Given the description of an element on the screen output the (x, y) to click on. 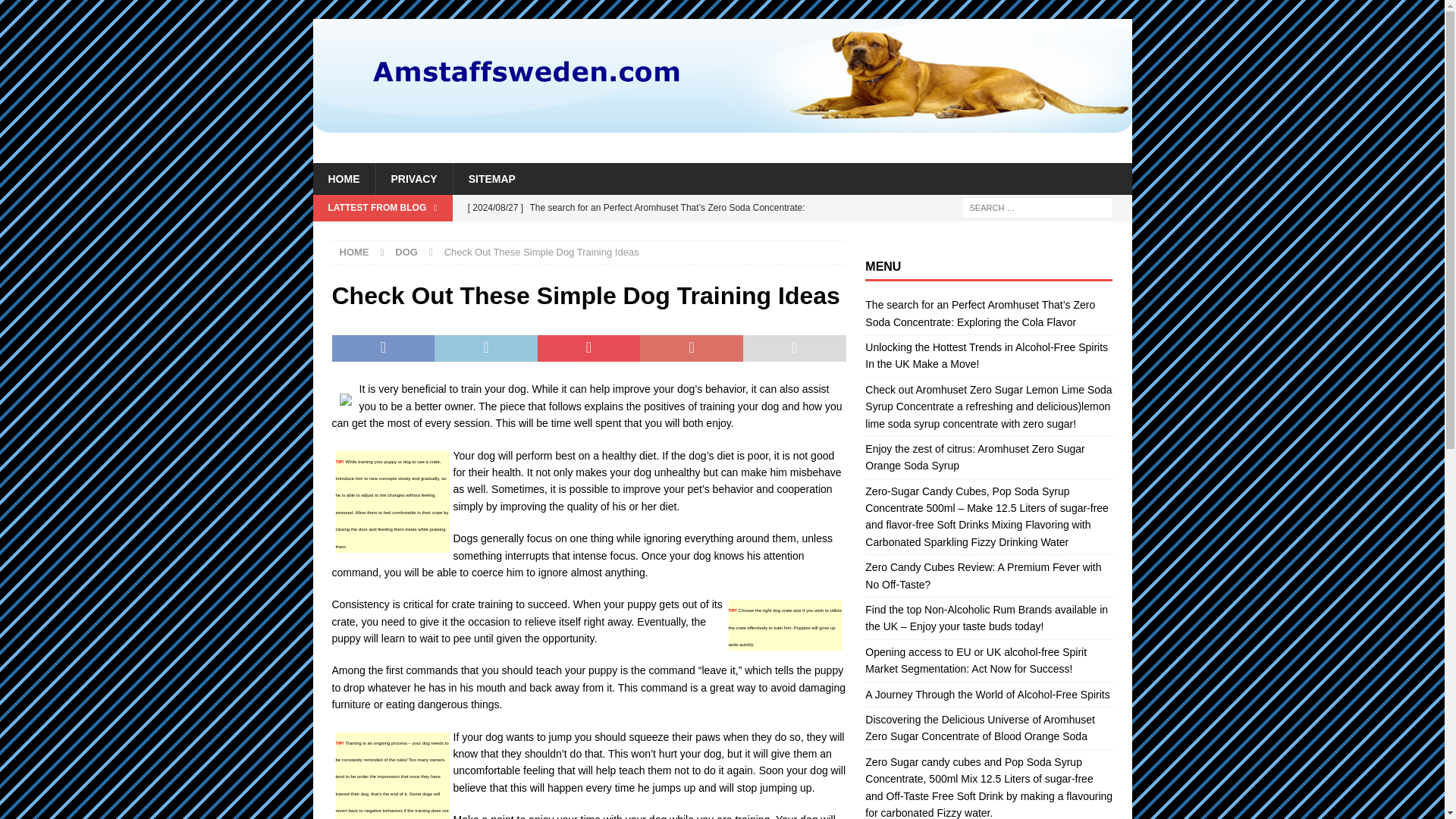
PRIVACY (412, 178)
Search (56, 11)
HOME (343, 178)
A Journey Through the World of Alcohol-Free Spirits (986, 694)
SITEMAP (491, 178)
HOME (354, 251)
Amstaff Sweden (722, 123)
DOG (405, 251)
